Given the description of an element on the screen output the (x, y) to click on. 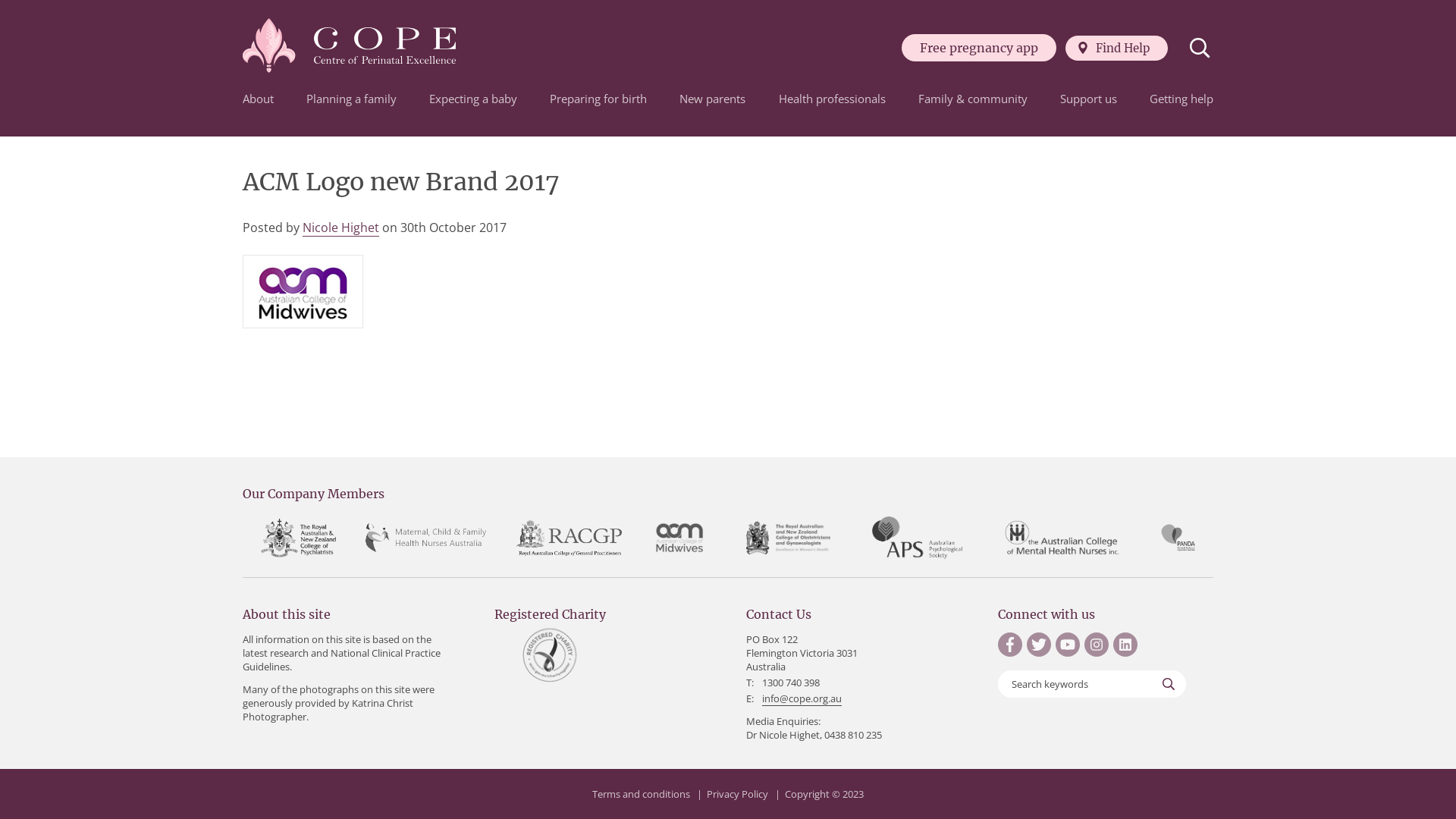
Like us on Facebook Element type: text (1009, 644)
About Element type: text (257, 98)
Subscribe to us on YouTube Element type: text (1067, 644)
Follow us on Instagram Element type: text (1096, 644)
Add us on LinkedIn Element type: text (1125, 644)
Follow us on Twitter Element type: text (1038, 644)
Planning a family Element type: text (351, 98)
Expecting a baby Element type: text (473, 98)
Support us Element type: text (1088, 98)
Find Help Element type: text (1116, 46)
Family & community Element type: text (972, 98)
Free pregnancy app Element type: text (978, 47)
Preparing for birth Element type: text (597, 98)
Search Element type: text (1199, 47)
Nicole Highet Element type: text (340, 227)
New parents Element type: text (712, 98)
Privacy Policy Element type: text (737, 794)
Getting help Element type: text (1181, 98)
info@cope.org.au Element type: text (801, 698)
Search Element type: text (1168, 683)
Terms and conditions Element type: text (641, 794)
Health professionals Element type: text (831, 98)
